Given the description of an element on the screen output the (x, y) to click on. 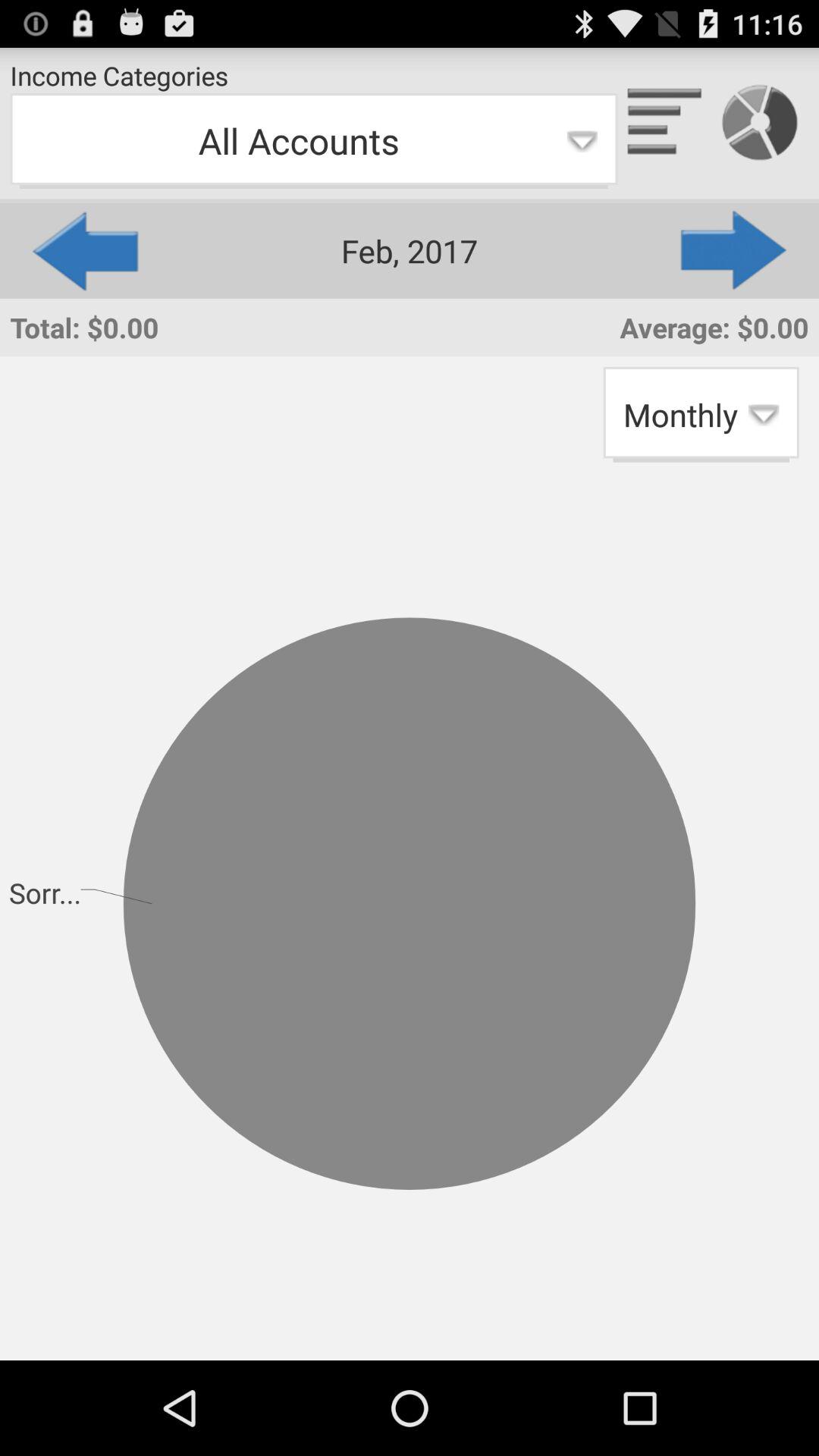
flip to the monthly icon (701, 414)
